Given the description of an element on the screen output the (x, y) to click on. 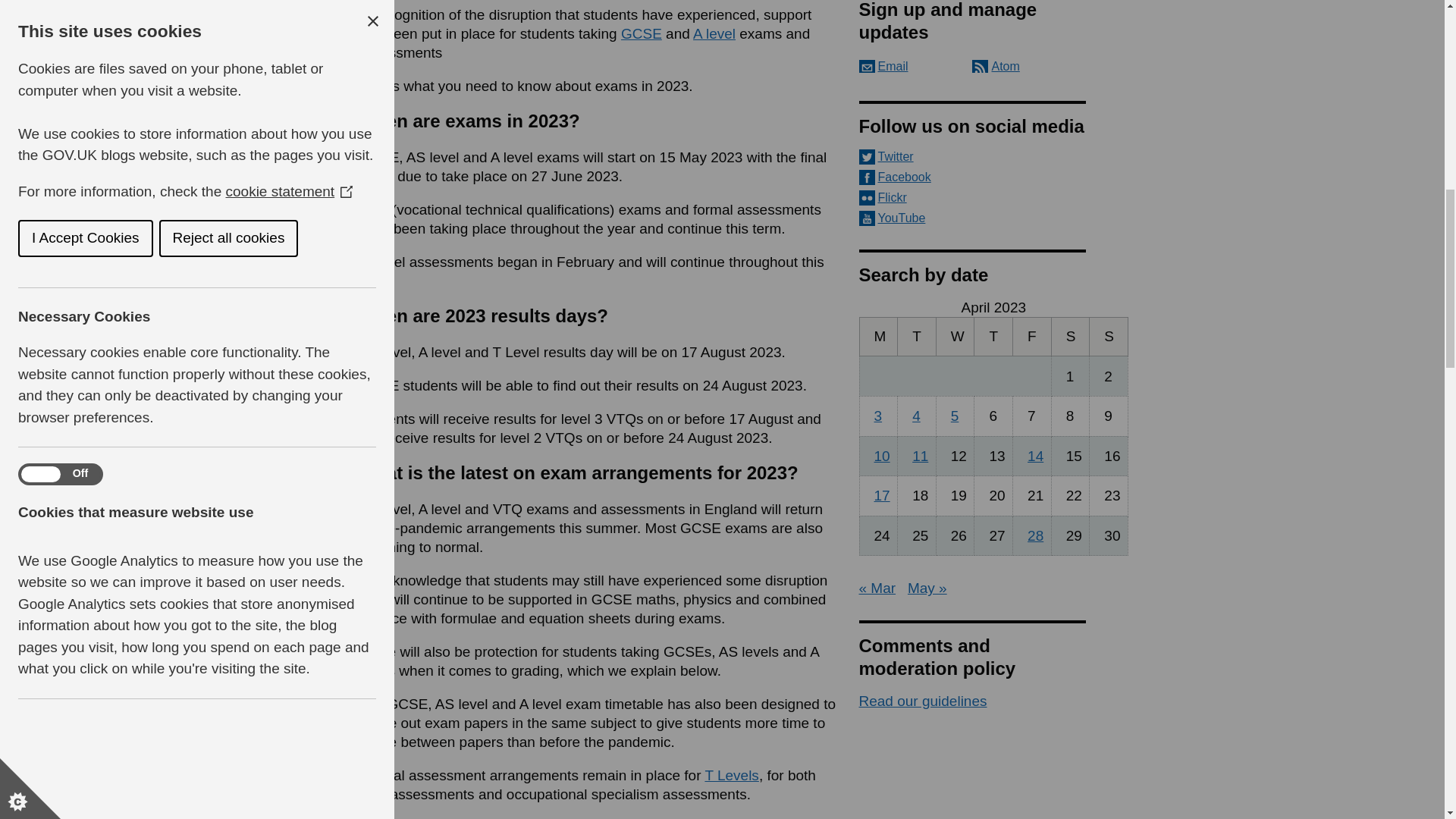
Sunday (1108, 335)
Thursday (993, 335)
GCSE (641, 33)
A level (714, 33)
Wednesday (955, 335)
Monday (878, 335)
Friday (1032, 335)
Tuesday (917, 335)
T Levels (731, 774)
Saturday (1070, 335)
